Given the description of an element on the screen output the (x, y) to click on. 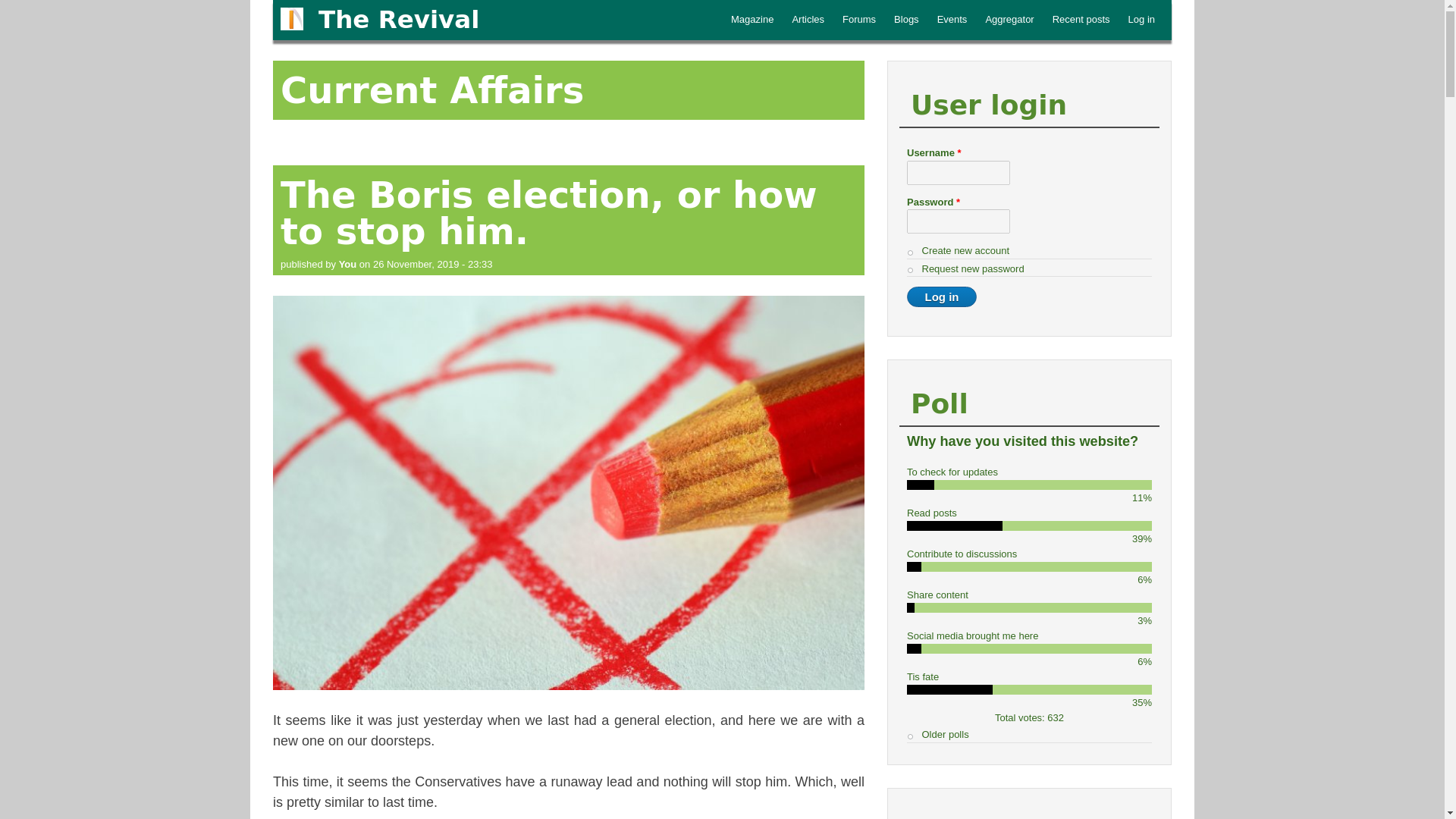
Skip to main content (774, 1)
Muslim Discussion forums (858, 19)
View user profile. (347, 263)
Click here to log in or create a new account (1141, 19)
The Boris election, or how to stop him. (548, 211)
Home (398, 19)
Log in (941, 296)
Log in (1141, 19)
Forums (858, 19)
Magazine (752, 19)
